Given the description of an element on the screen output the (x, y) to click on. 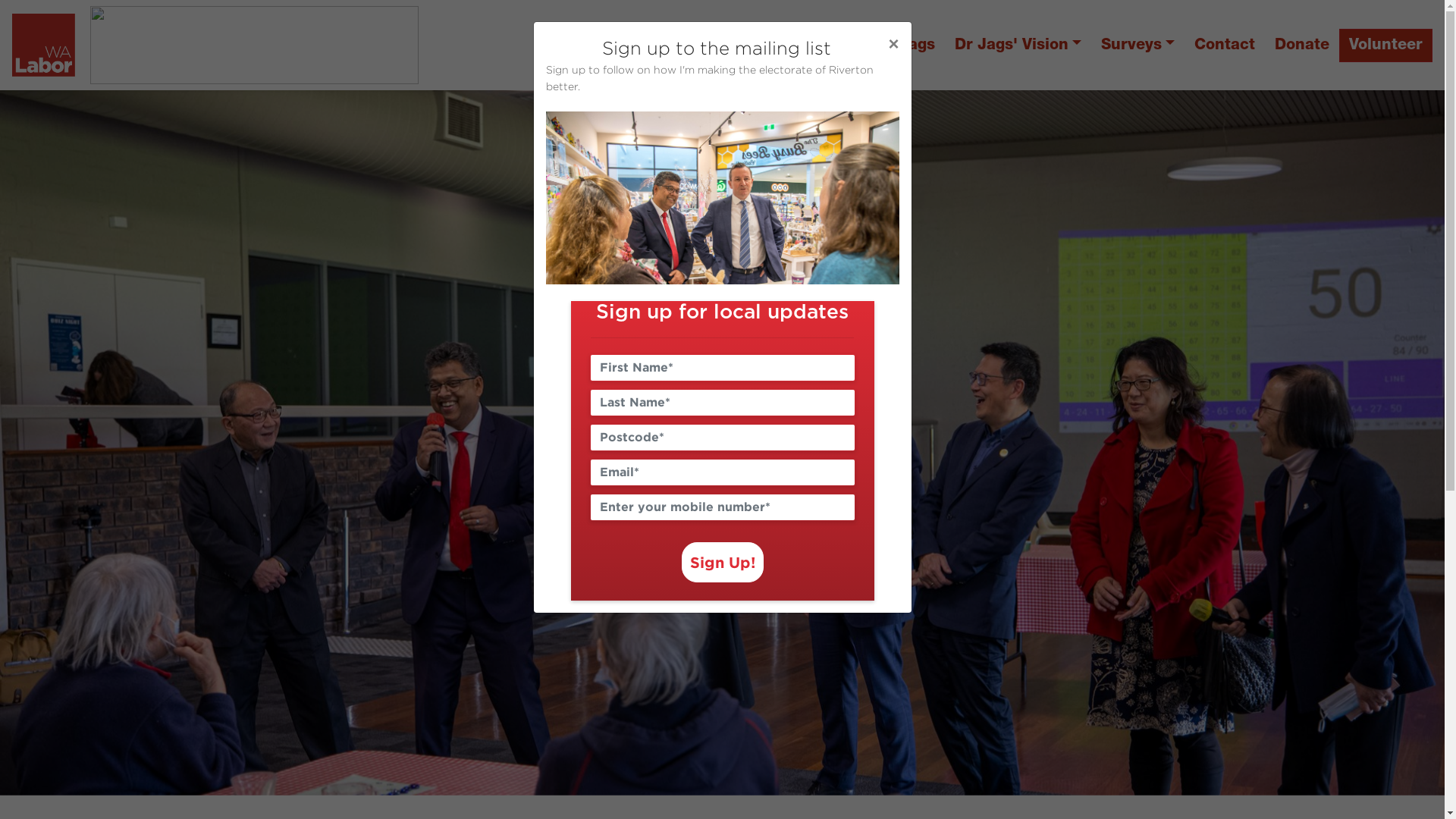
Contact Element type: text (1224, 45)
Volunteer Element type: text (1385, 45)
Dr Jags' Vision Element type: text (1017, 45)
Previous Element type: text (108, 442)
Next Element type: text (1335, 442)
Surveys Element type: text (1137, 45)
Meet Jags Element type: text (895, 45)
Sign Up! Element type: text (721, 562)
Donate Element type: text (1301, 45)
